Given the description of an element on the screen output the (x, y) to click on. 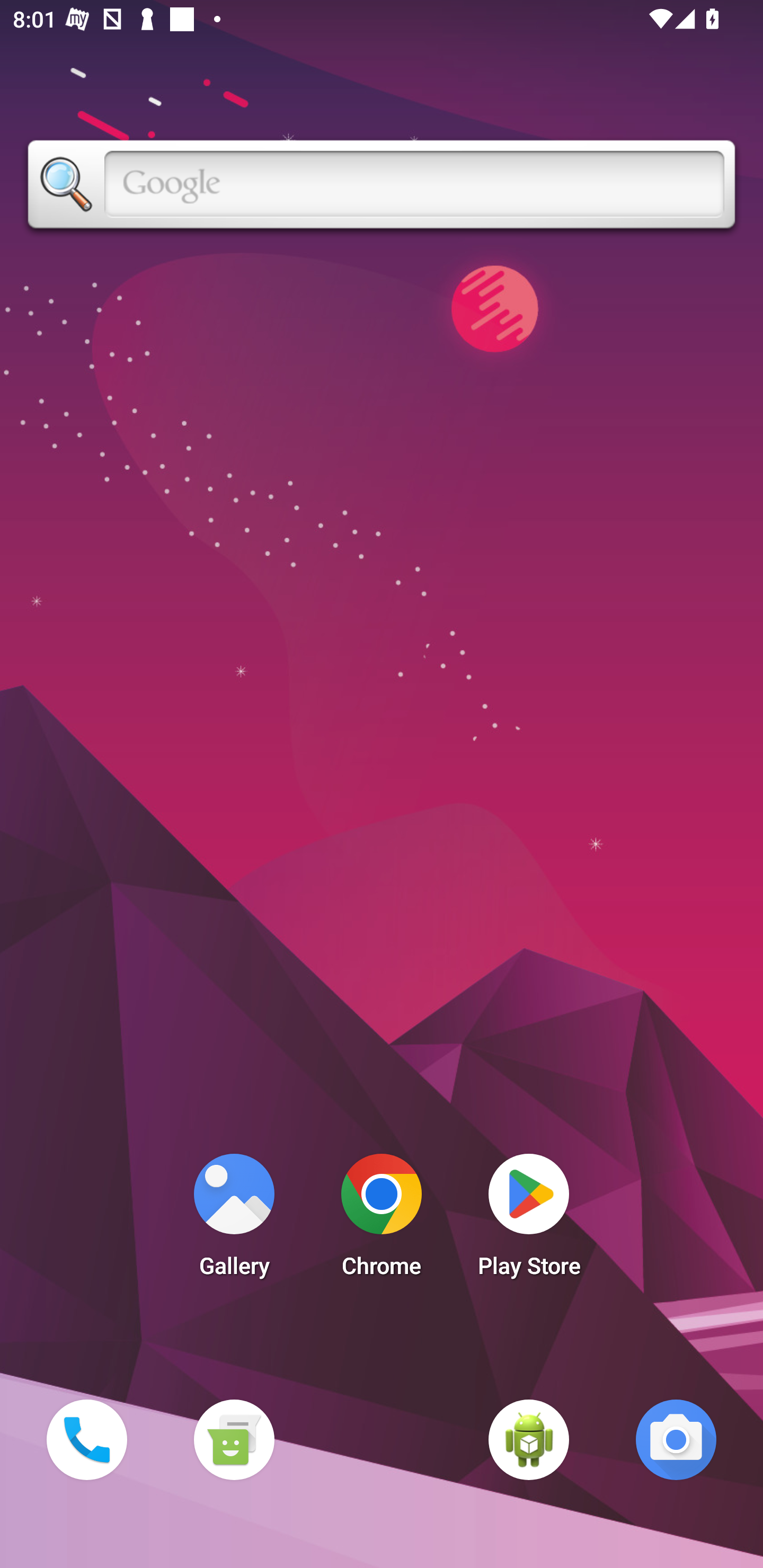
Gallery (233, 1220)
Chrome (381, 1220)
Play Store (528, 1220)
Phone (86, 1439)
Messaging (233, 1439)
WebView Browser Tester (528, 1439)
Camera (676, 1439)
